Given the description of an element on the screen output the (x, y) to click on. 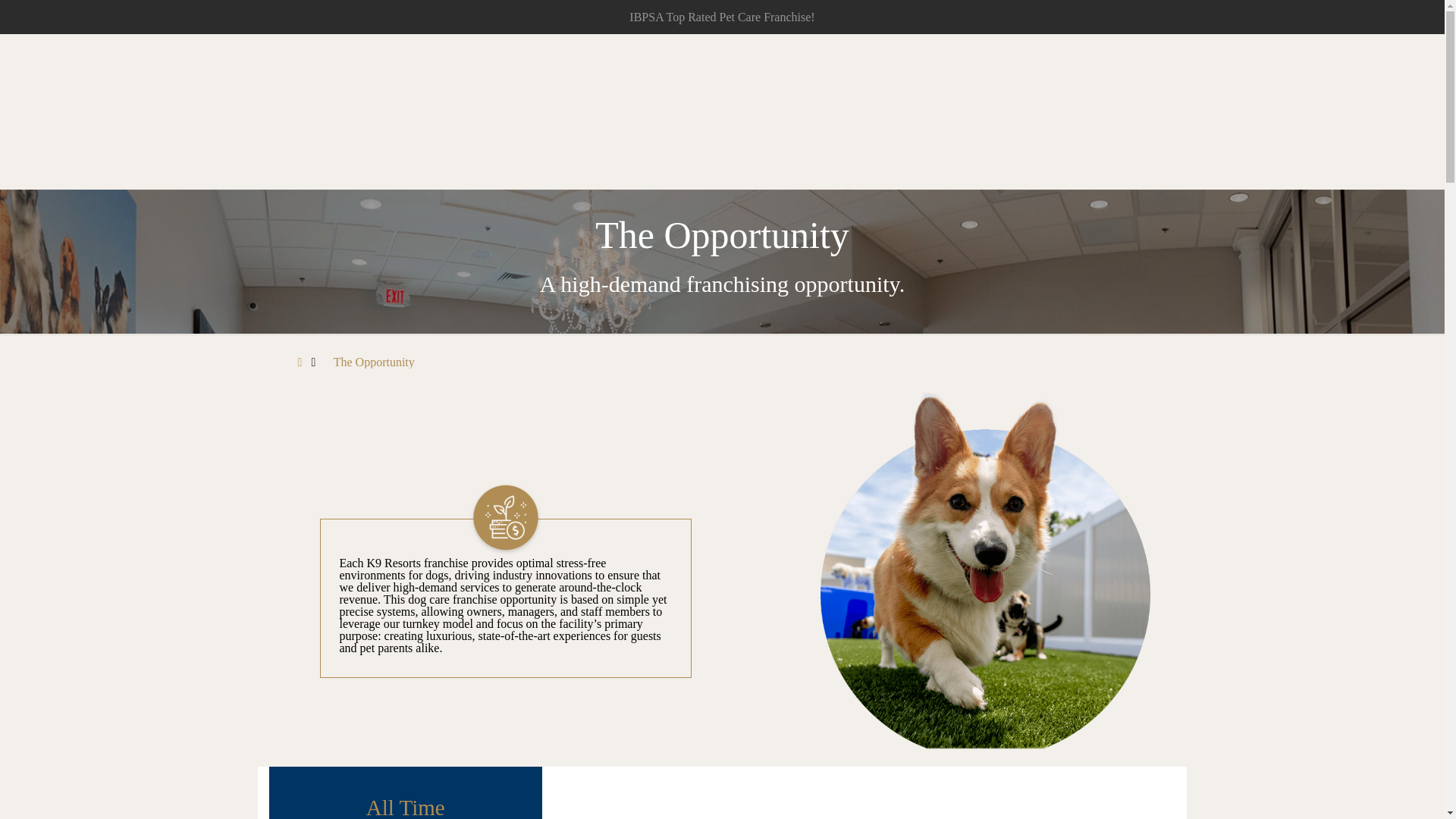
The Opportunity (373, 361)
